Given the description of an element on the screen output the (x, y) to click on. 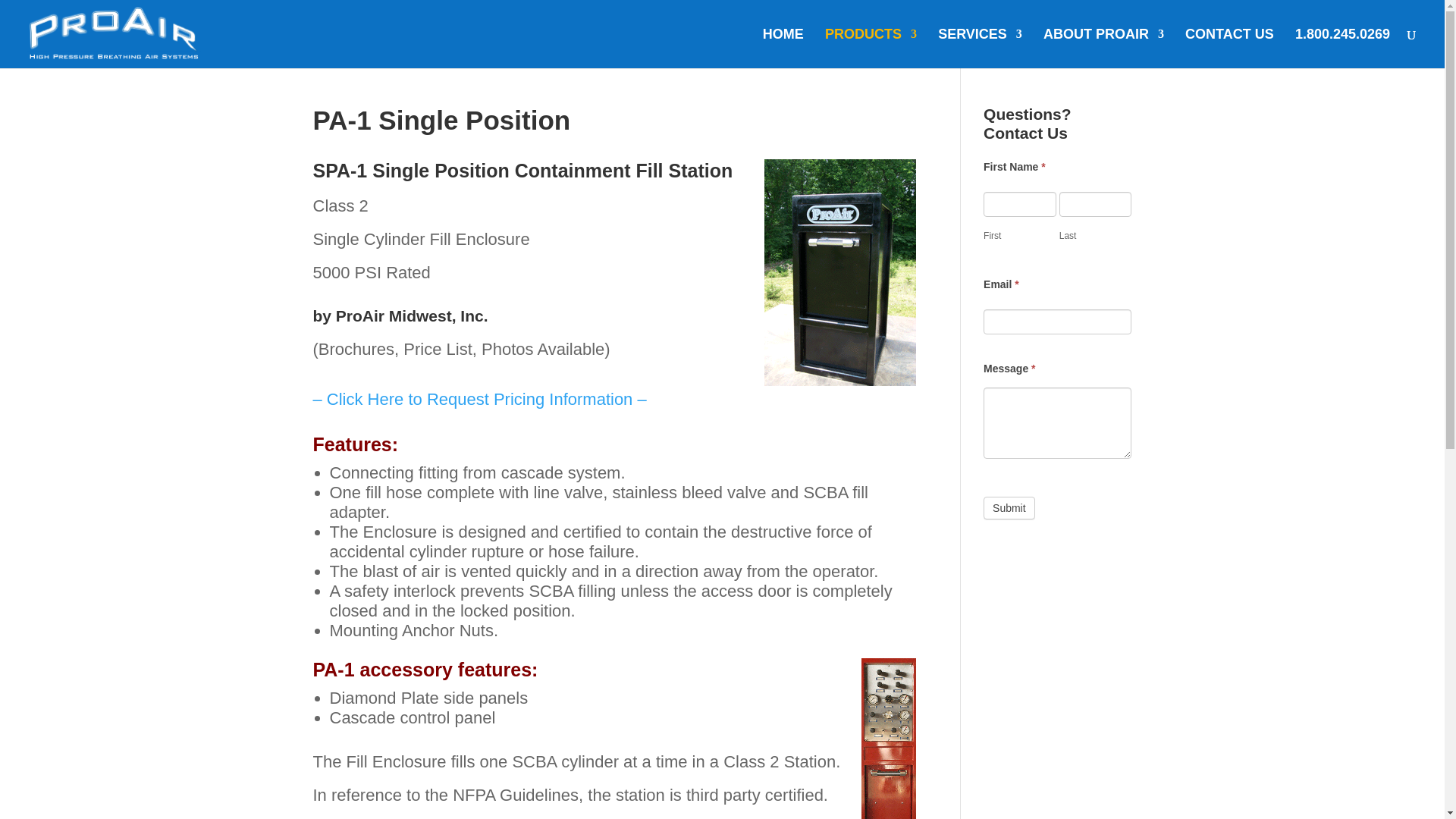
HOME (782, 47)
CONTACT US (1229, 47)
PRODUCTS (871, 47)
ABOUT PROAIR (1103, 47)
SERVICES (979, 47)
1.800.245.0269 (1342, 47)
Submit (1009, 507)
